Given the description of an element on the screen output the (x, y) to click on. 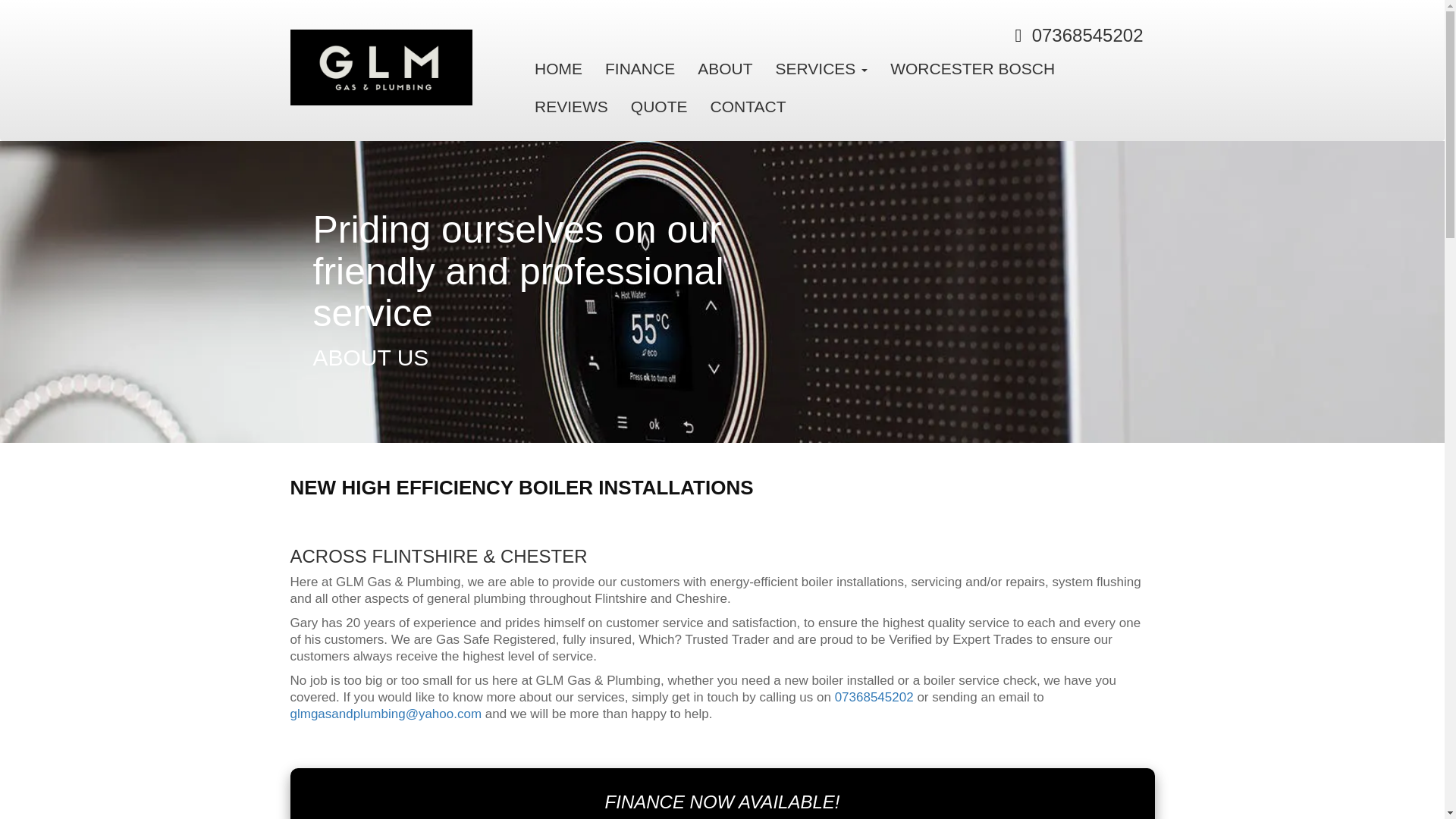
FINANCE NOW AVAILABLE! (721, 800)
QUOTE (659, 106)
ABOUT (723, 68)
FINANCE (639, 68)
CONTACT (747, 106)
REVIEWS (571, 106)
07368545202 (874, 697)
WORCESTER BOSCH (972, 68)
HOME (558, 68)
07368545202 (1087, 35)
